Given the description of an element on the screen output the (x, y) to click on. 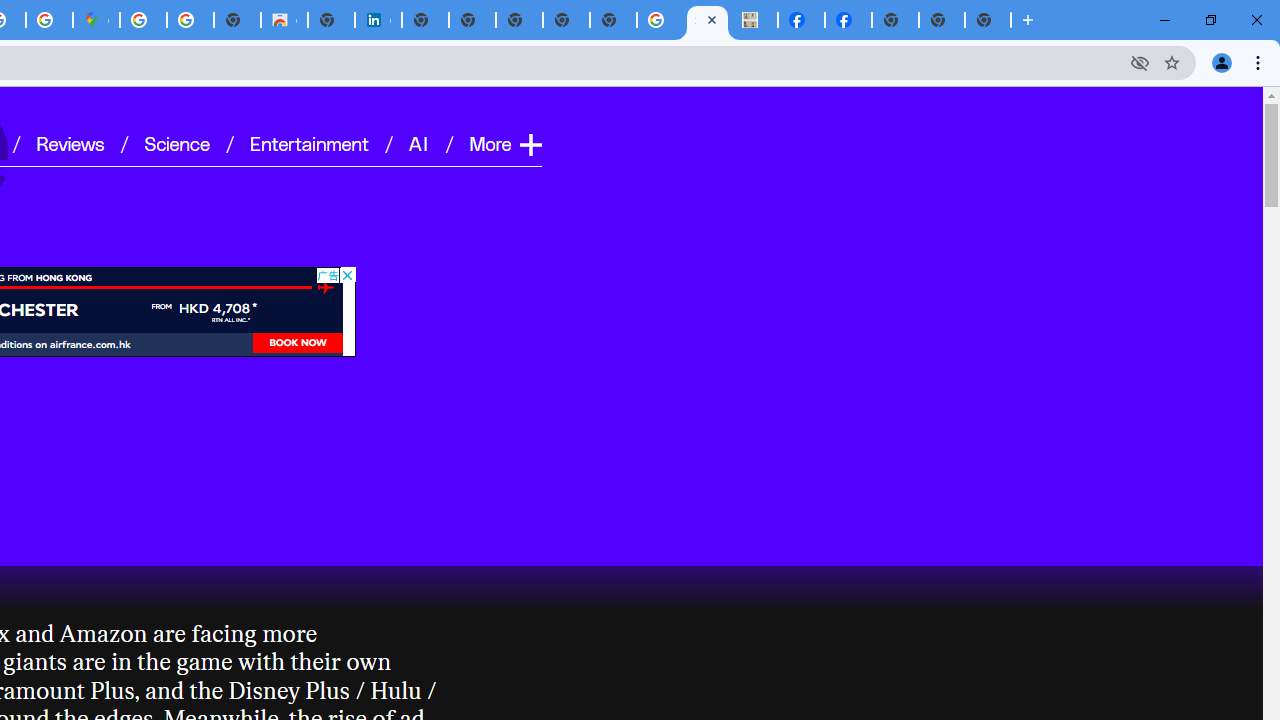
Miley Cyrus | Facebook (848, 20)
AI (419, 142)
MILEY CYRUS. (754, 20)
Cookie Policy | LinkedIn (377, 20)
New Tab (988, 20)
